Given the description of an element on the screen output the (x, y) to click on. 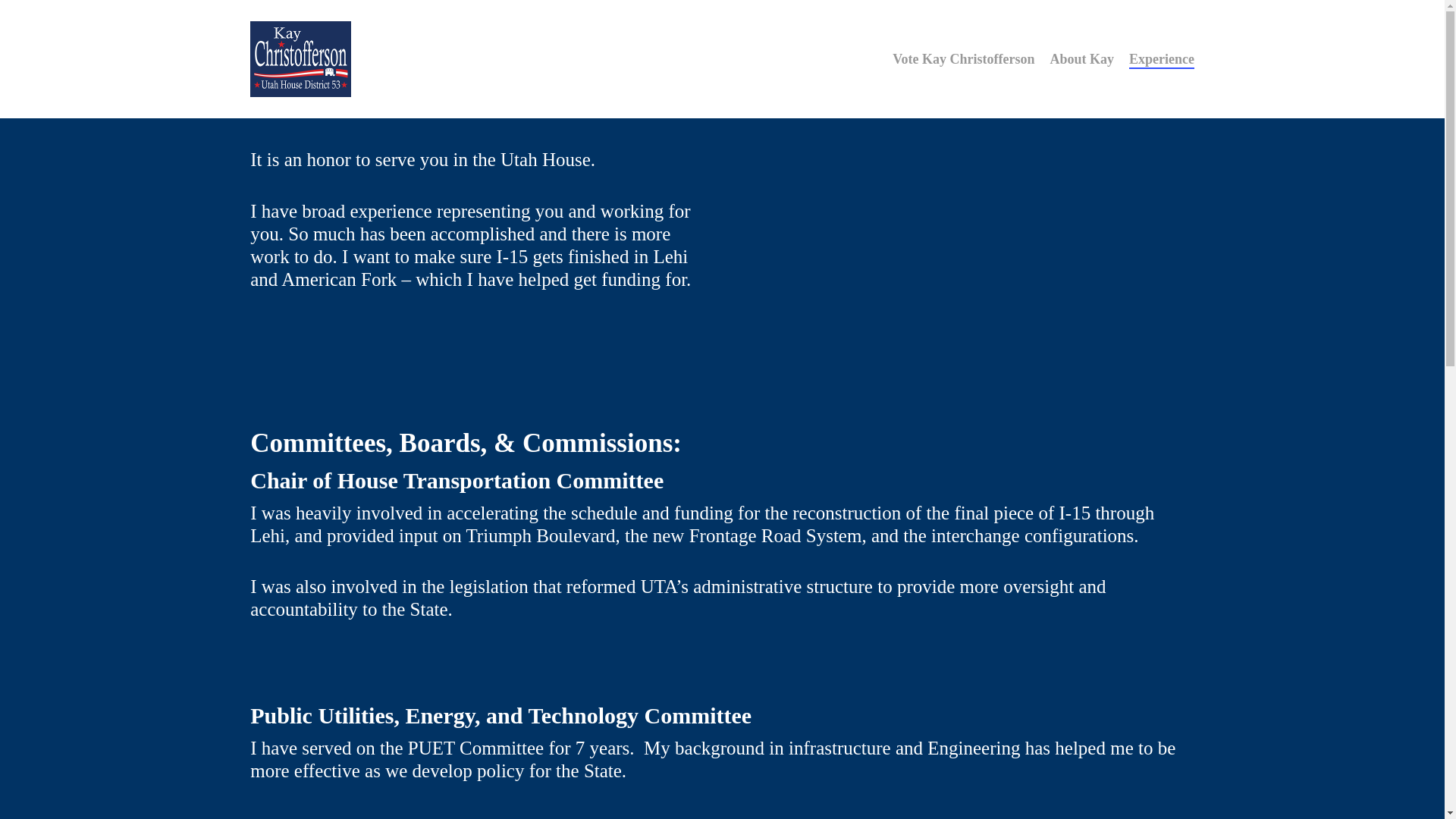
Vote Kay Christofferson (962, 58)
About Kay (1081, 58)
Experience (1161, 58)
